Given the description of an element on the screen output the (x, y) to click on. 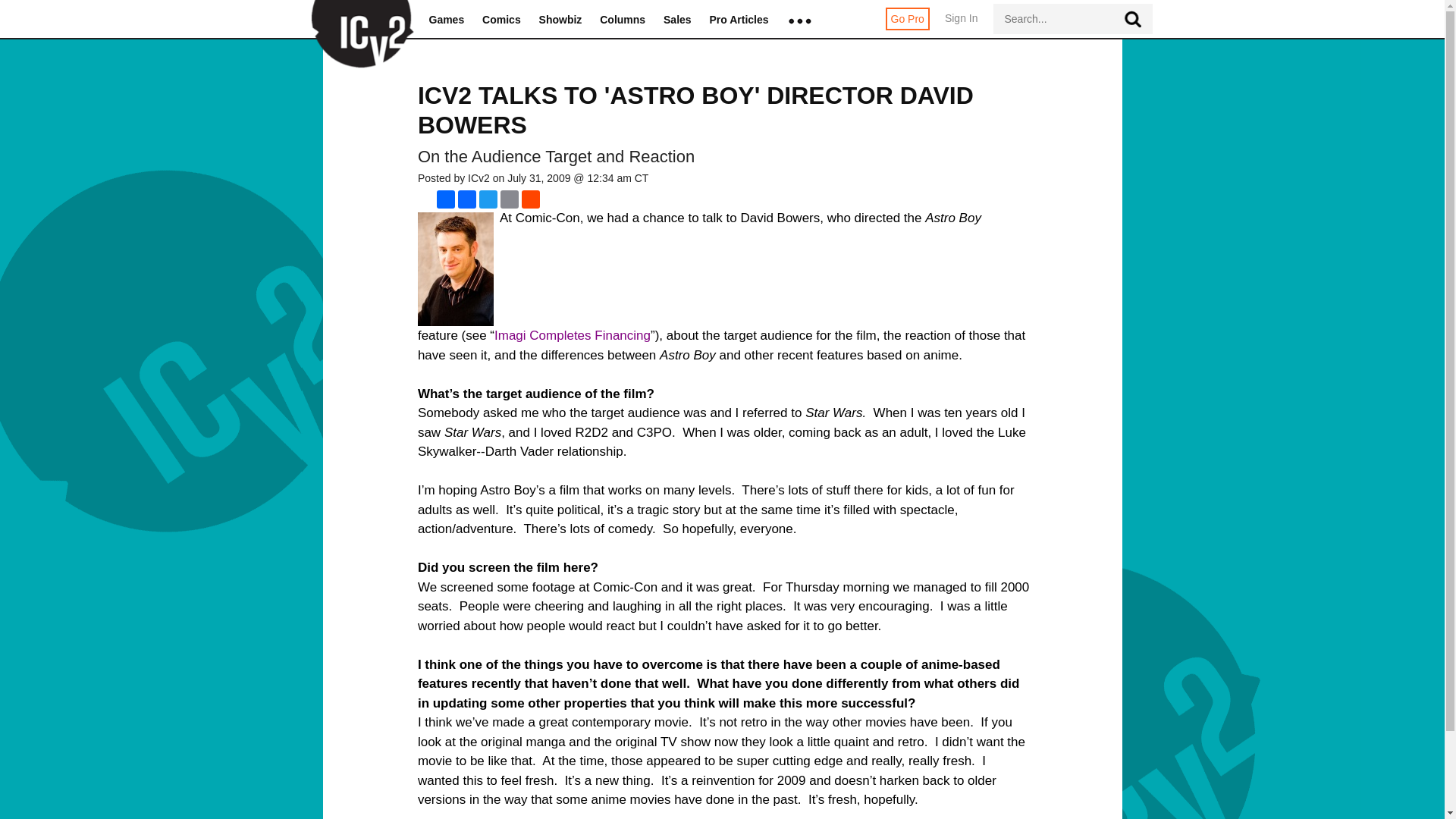
Columns (622, 20)
Games (446, 20)
Sign In (961, 25)
Pro Articles (739, 20)
Twitter (488, 199)
Comics (501, 20)
Imagi Completes Financing (572, 335)
Go Pro (907, 18)
Showbiz (560, 20)
Facebook (467, 199)
ICv2 (357, 19)
Email (509, 199)
Sales (677, 20)
ICV2 TALKS TO 'ASTRO BOY' DIRECTOR DAVID BOWERS (695, 109)
Reddit (530, 199)
